Given the description of an element on the screen output the (x, y) to click on. 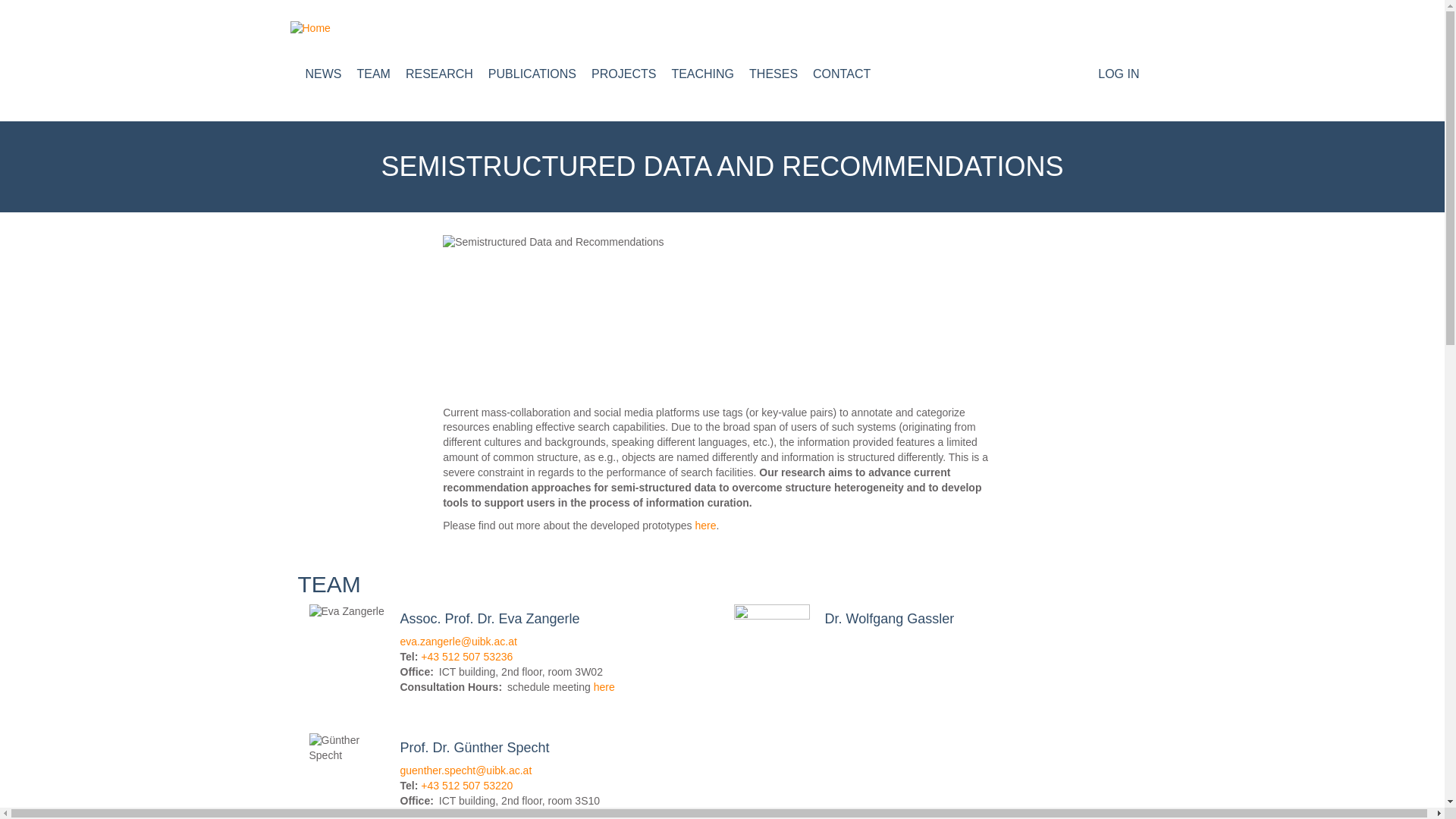
Home (727, 28)
THESES (773, 78)
TEAM (373, 78)
NEWS (322, 78)
LOG IN (1117, 78)
RESEARCH (439, 78)
here (604, 686)
TEACHING (702, 78)
here (705, 525)
